Given the description of an element on the screen output the (x, y) to click on. 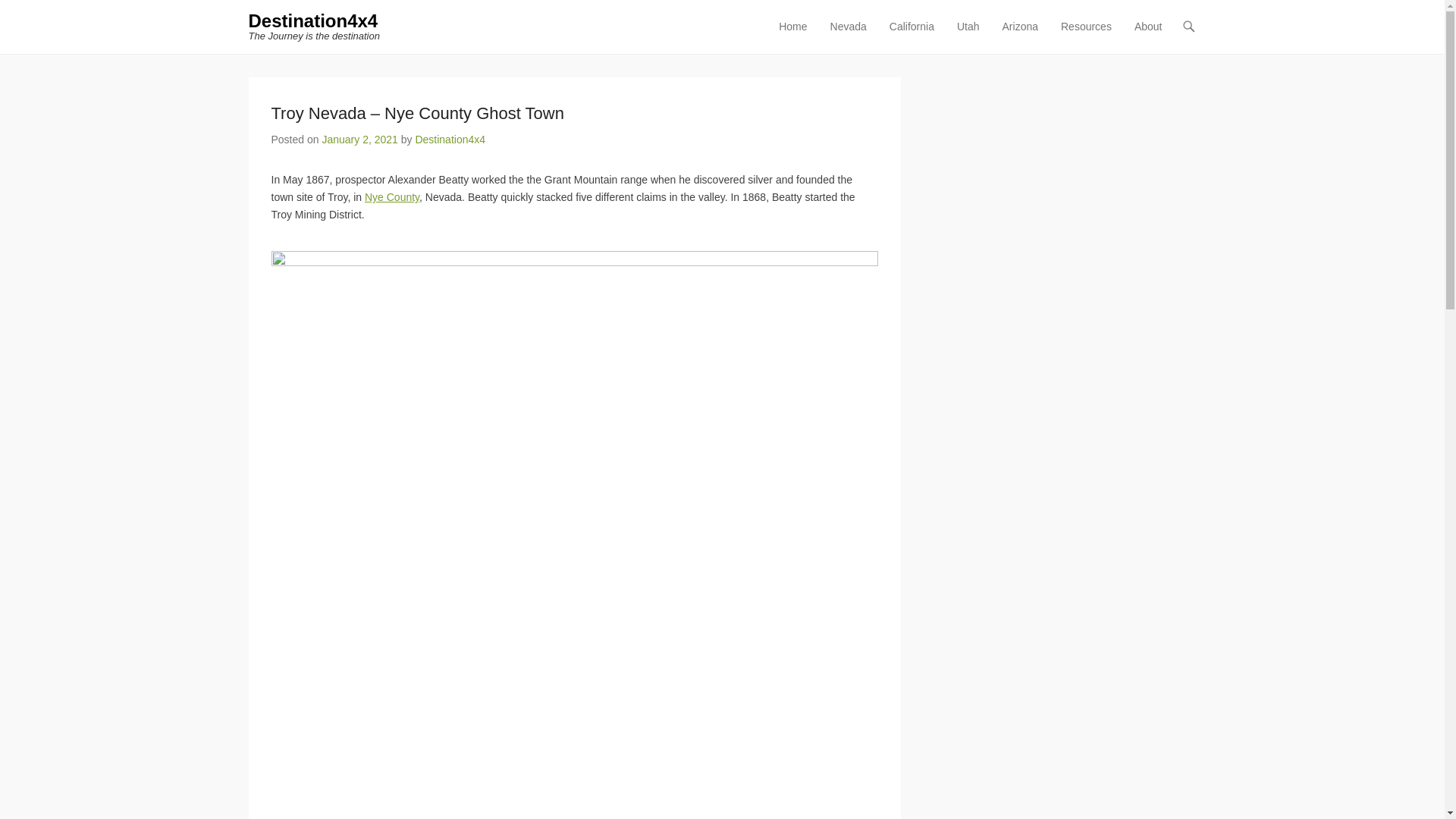
Skip to content (806, 27)
Skip to content (806, 27)
View all posts by Destination4x4 (449, 139)
Home (792, 35)
Nevada (848, 35)
10:15 pm (359, 139)
Destination4x4 (313, 20)
Destination4x4 (313, 20)
California (912, 35)
